Given the description of an element on the screen output the (x, y) to click on. 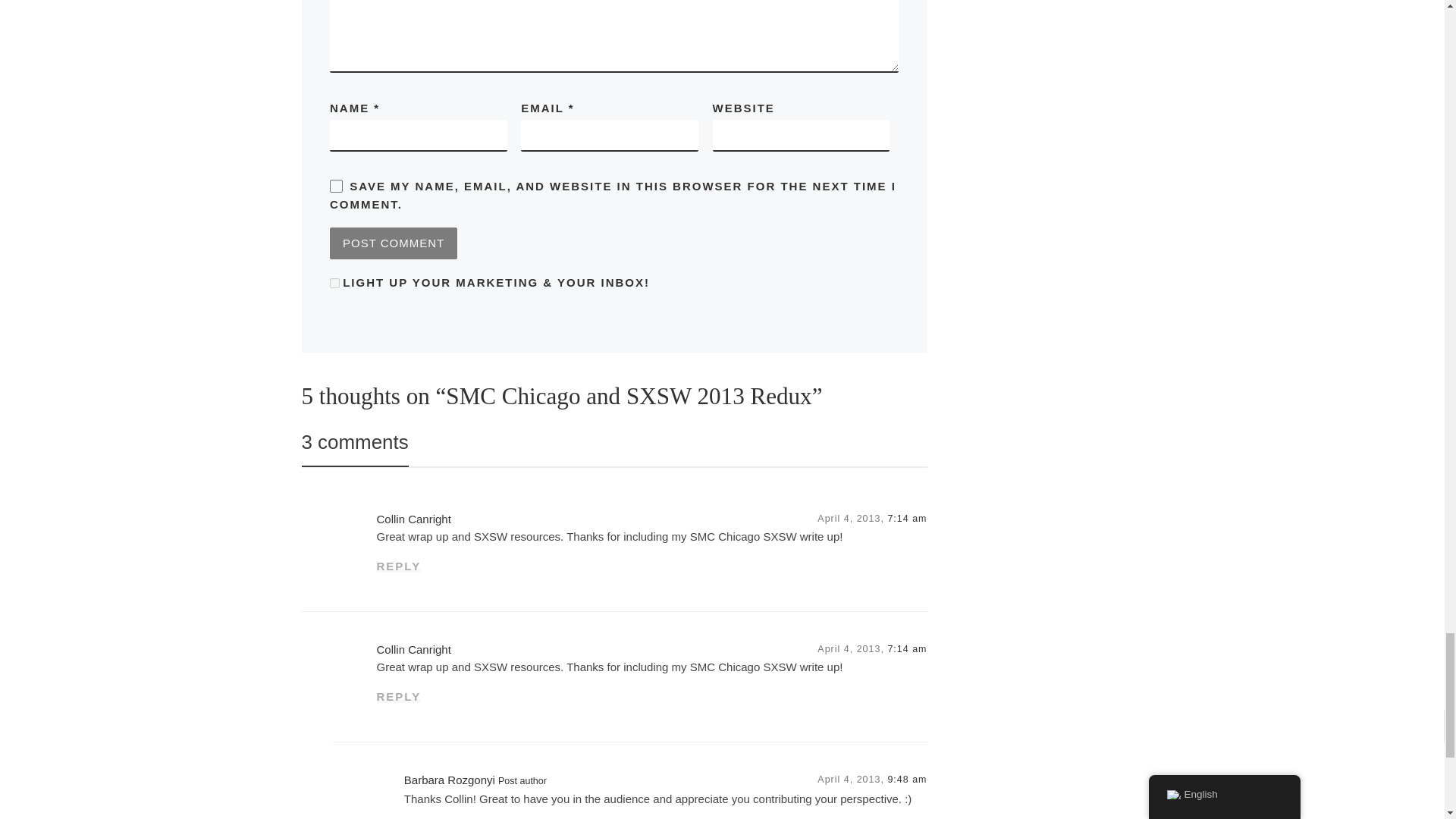
Post Comment (393, 243)
1 (334, 283)
yes (336, 185)
